Given the description of an element on the screen output the (x, y) to click on. 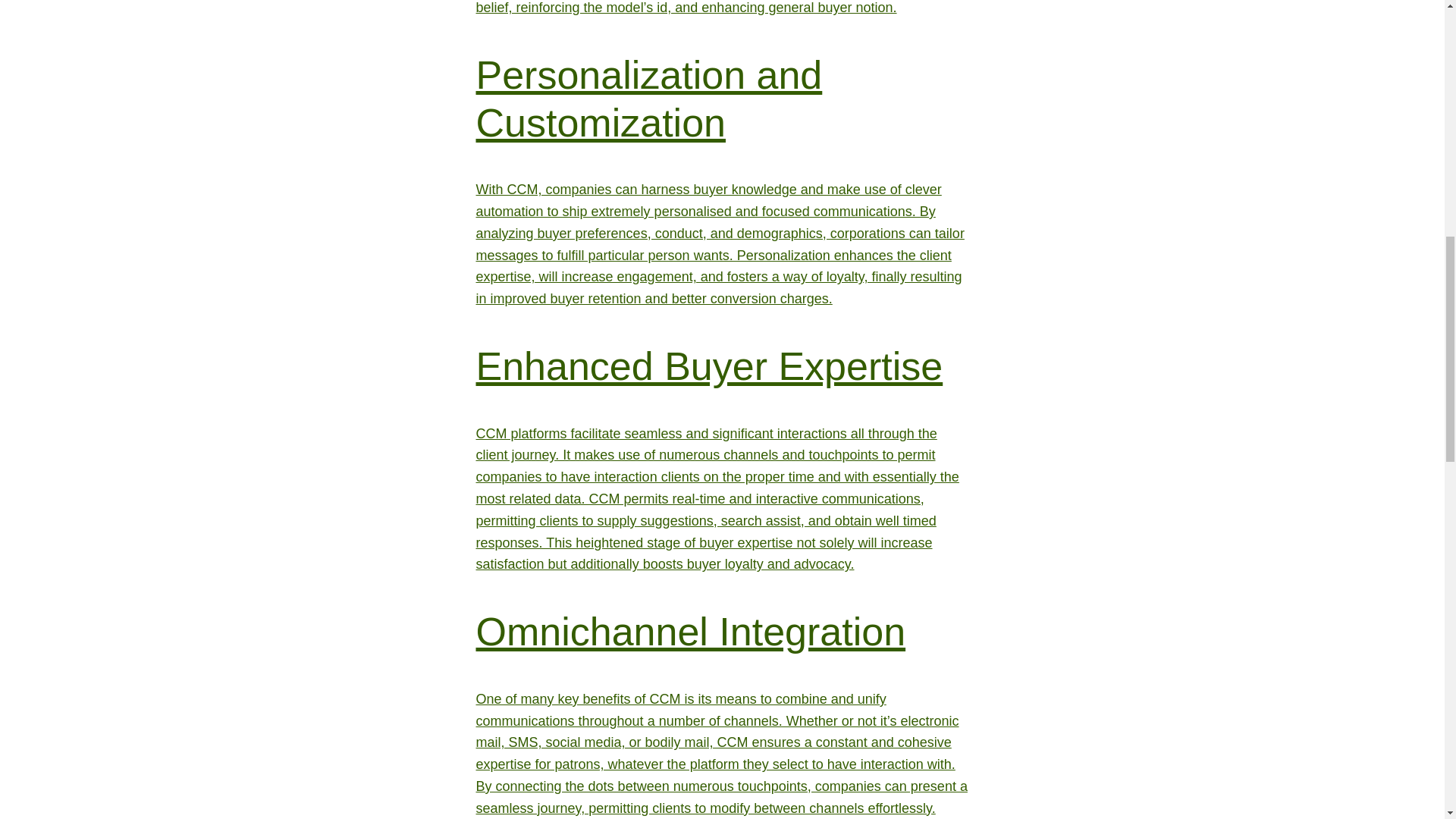
Enhanced Buyer Expertise (709, 365)
Omnichannel Integration (690, 631)
Personalization and Customization (649, 98)
